Given the description of an element on the screen output the (x, y) to click on. 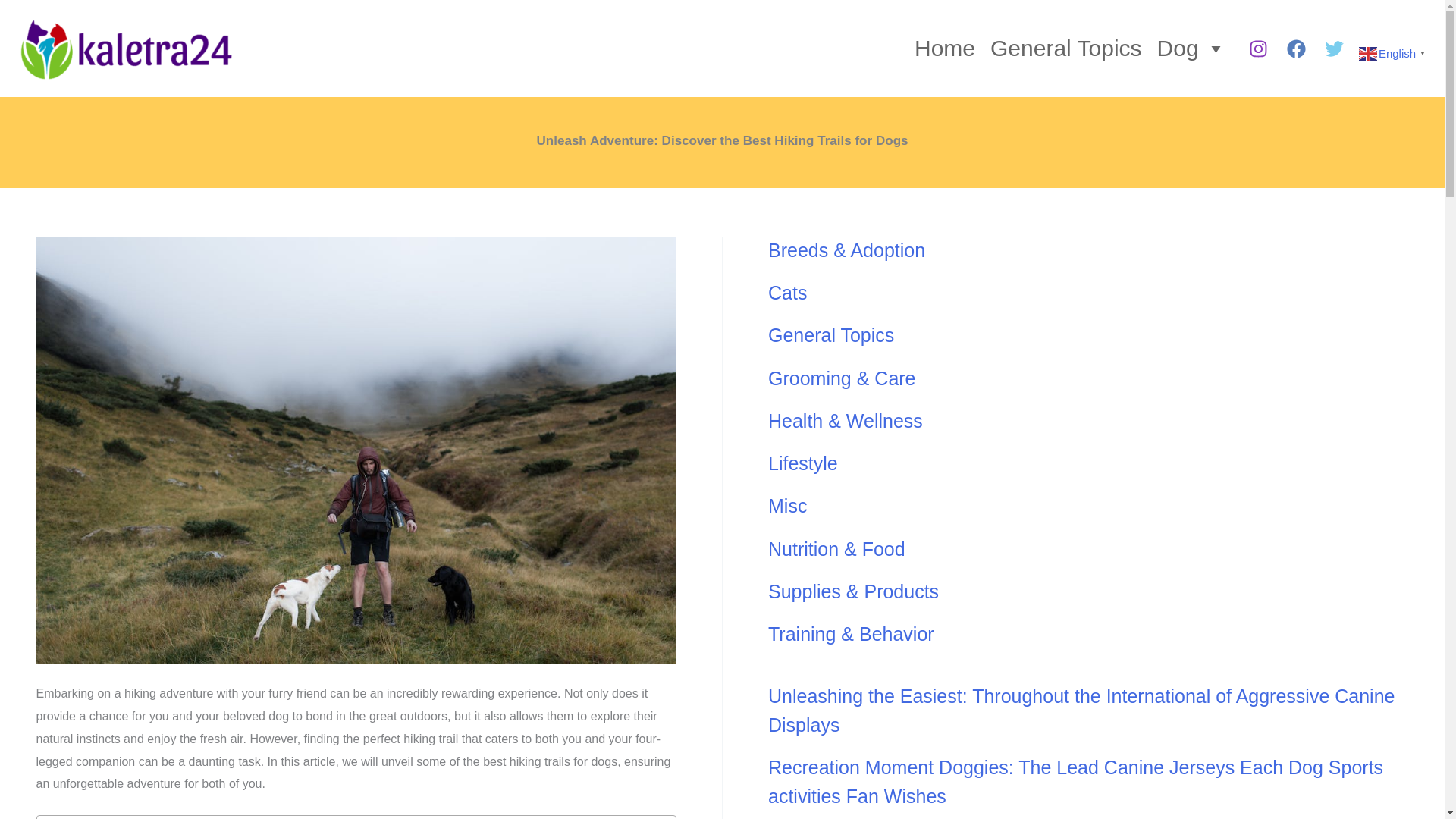
Home (944, 48)
General Topics (1066, 48)
Dog (1191, 48)
